Given the description of an element on the screen output the (x, y) to click on. 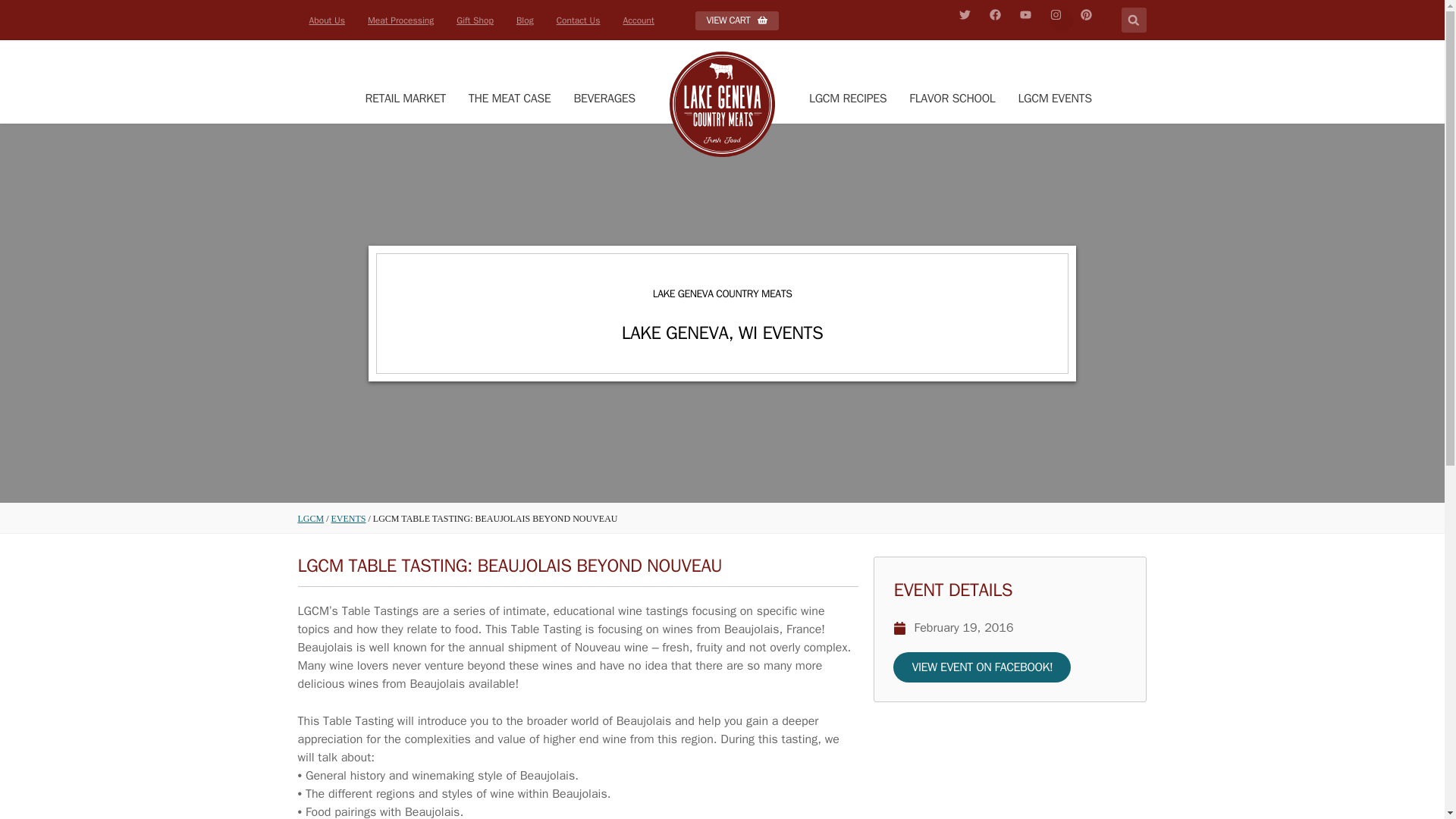
Gift Shop (475, 20)
FLAVOR SCHOOL (952, 98)
Meat Processing (400, 20)
BEVERAGES (604, 98)
Account (638, 20)
RETAIL MARKET (404, 98)
About Us (326, 20)
LGCM RECIPES (847, 98)
Blog (524, 20)
LGCM EVENTS (1054, 98)
